Given the description of an element on the screen output the (x, y) to click on. 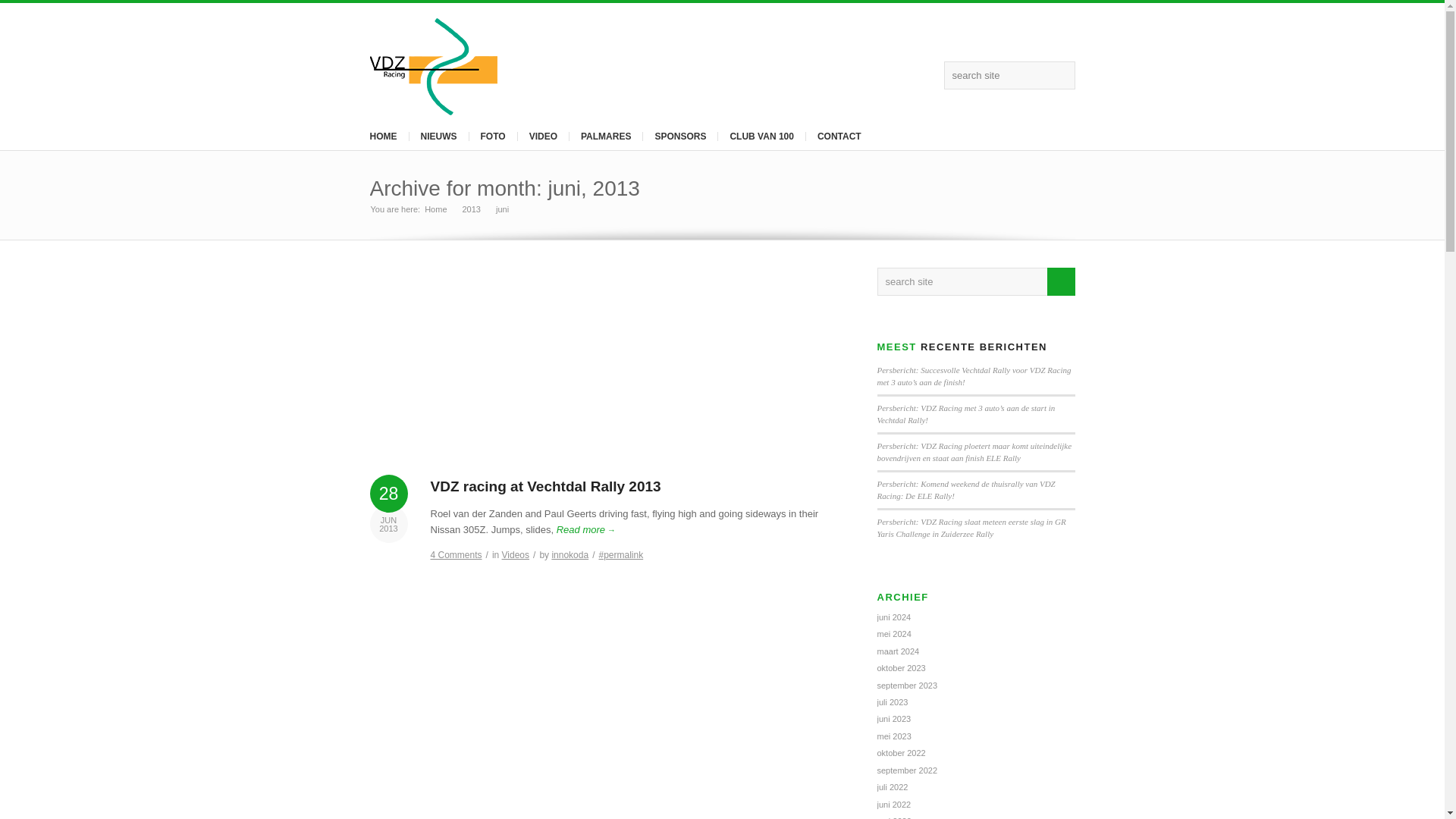
FOTO (492, 135)
CONTACT (838, 135)
Twitter (878, 76)
CLUB VAN 100 (761, 135)
Youtube (925, 76)
Archive for month: juni, 2013 (504, 187)
SPONSORS (679, 135)
HOME (382, 135)
Videos (515, 554)
innokoda (569, 554)
